Given the description of an element on the screen output the (x, y) to click on. 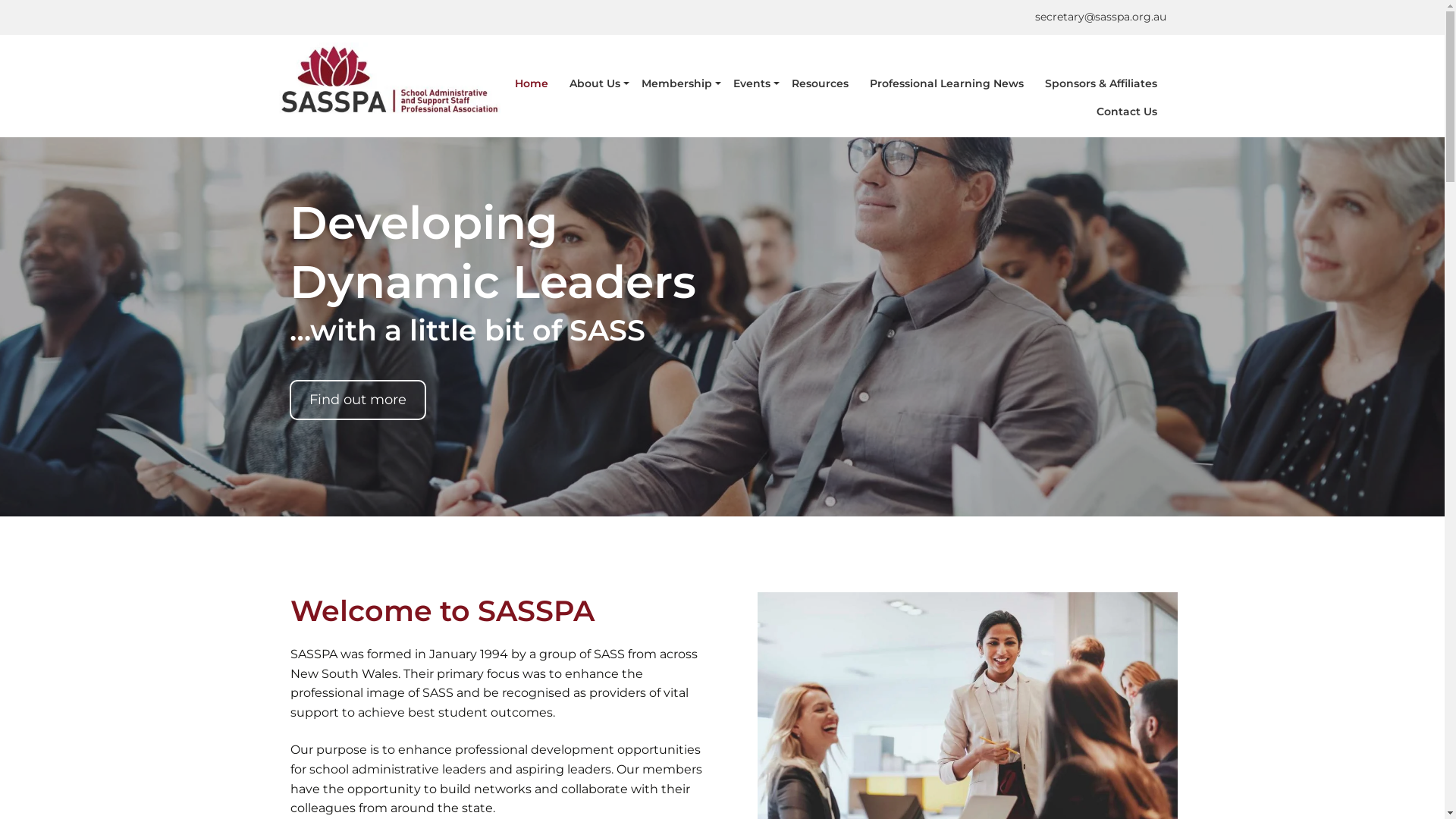
Home Element type: text (530, 83)
Membership Element type: text (676, 83)
Find out more Element type: text (357, 399)
Events Element type: text (750, 83)
Sponsors & Affiliates Element type: text (1100, 83)
Professional Learning News Element type: text (945, 83)
Back to SASSPA homepage Element type: hover (390, 80)
secretary@sasspa.org.au Element type: text (1099, 16)
Contact Us Element type: text (1126, 111)
Resources Element type: text (819, 83)
About Us Element type: text (593, 83)
